Given the description of an element on the screen output the (x, y) to click on. 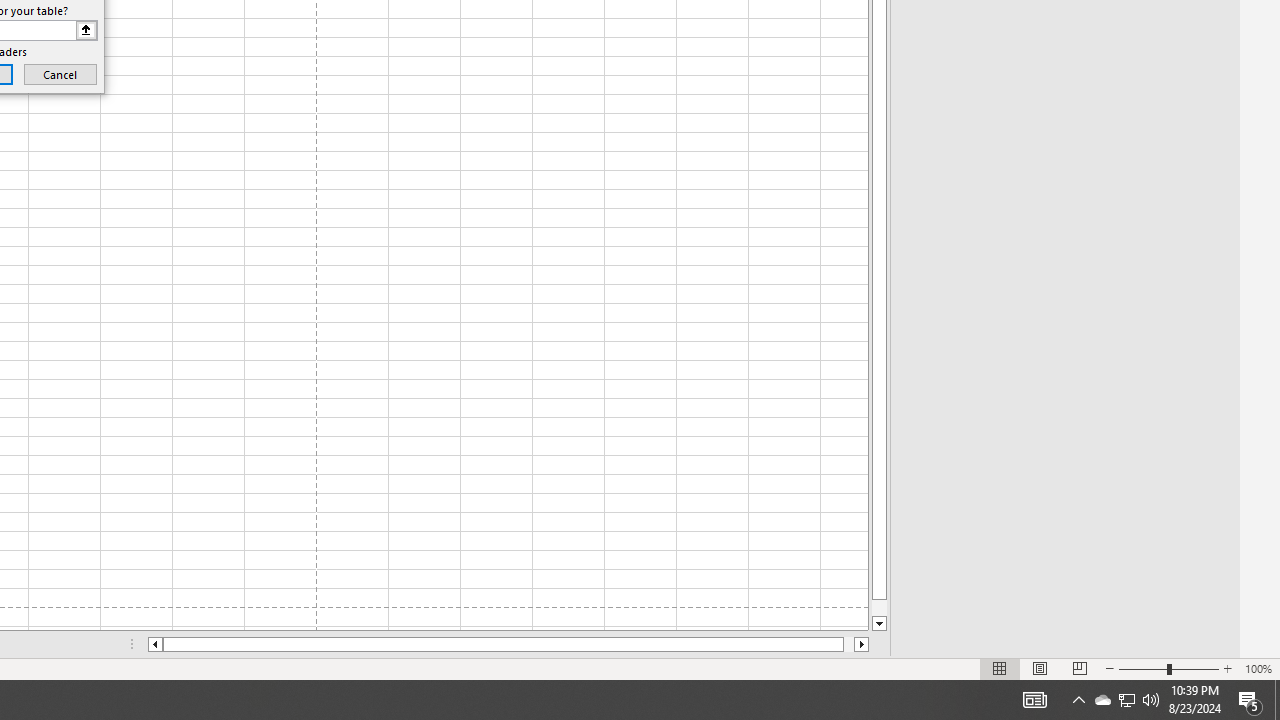
Column left (153, 644)
Zoom (1168, 668)
Page down (879, 607)
Normal (1000, 668)
Zoom In (1227, 668)
Class: NetUIScrollBar (507, 644)
Line down (879, 624)
Page right (848, 644)
Page Break Preview (1079, 668)
Zoom Out (1142, 668)
Column right (861, 644)
